Given the description of an element on the screen output the (x, y) to click on. 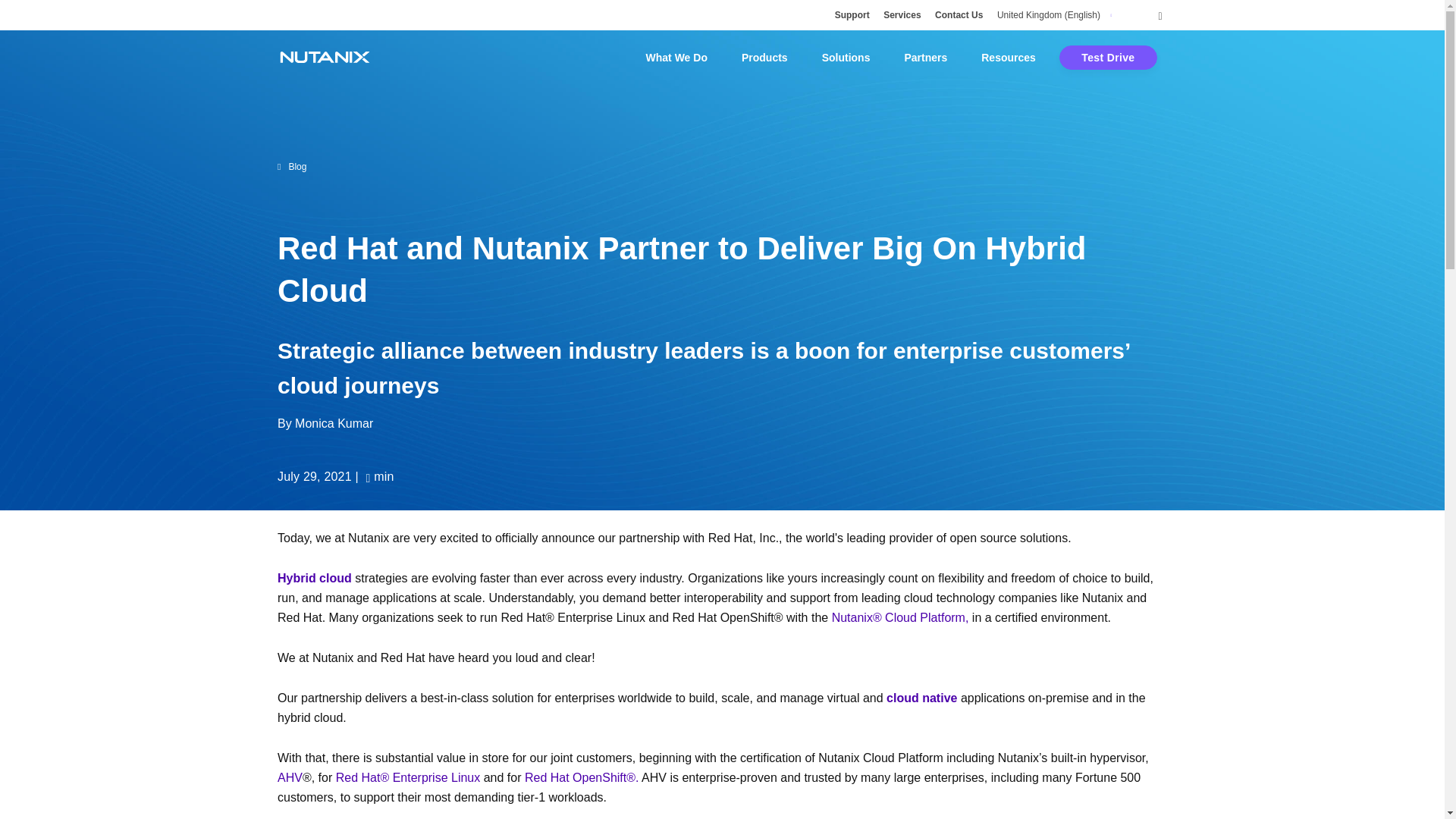
Services (901, 15)
What We Do (676, 57)
Contact Us (958, 15)
Products (764, 57)
Support (851, 15)
